Given the description of an element on the screen output the (x, y) to click on. 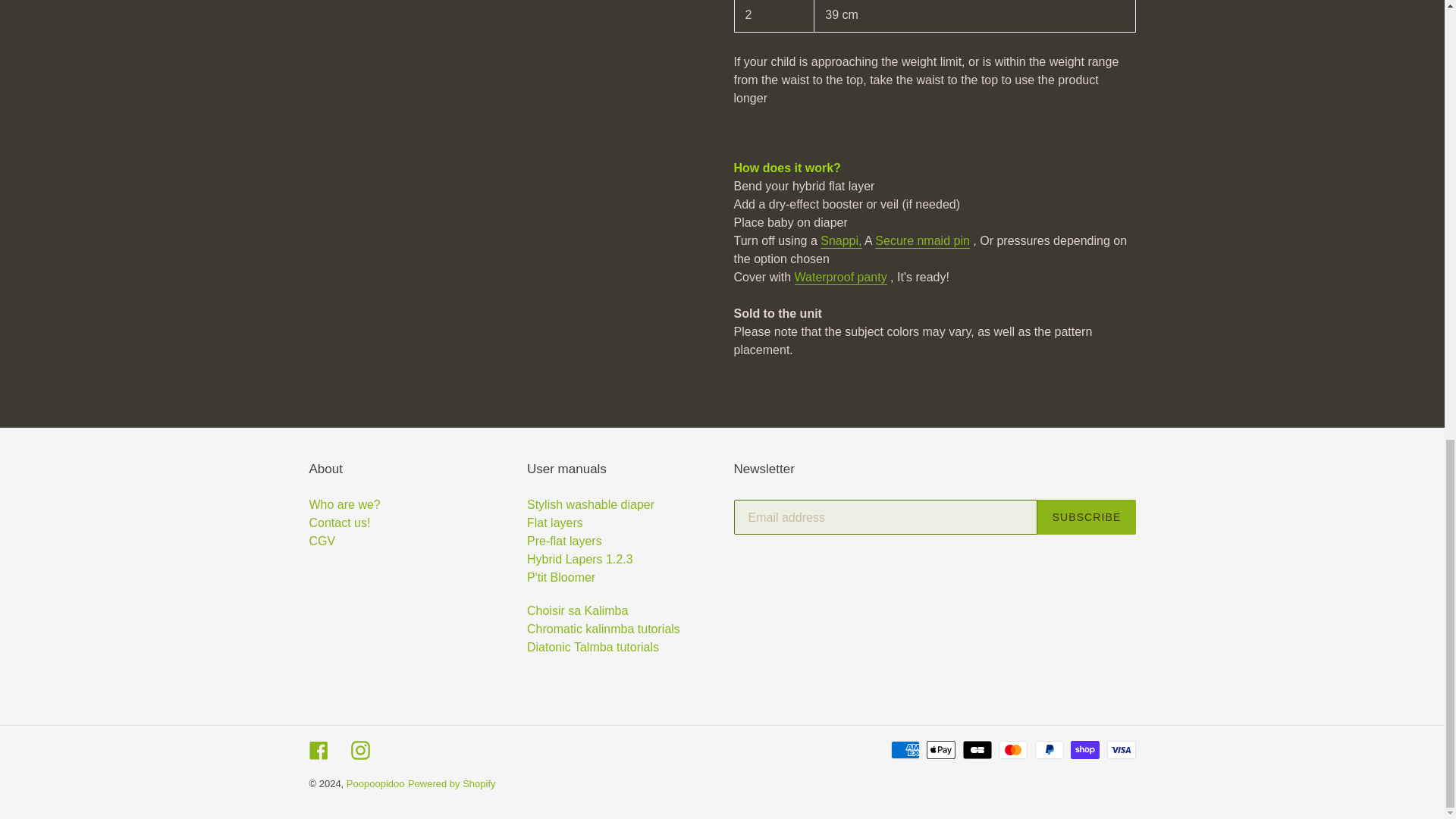
Mode d'emploi Stylish (590, 504)
Mode d'emploi Couches plates (555, 522)
TUTORIELS : la kalimba diatonique (593, 646)
Mode d'emploi " Hybride1.2.3!" (580, 558)
mode d'emploi p'tit bloomer (561, 576)
TUTORIELS : la kalimba chromatique (603, 628)
Snappi (841, 241)
AIDE AU CHOIX D'UNE KALIMBA (577, 610)
Contactez nous! (339, 522)
Qui sommes nous? (344, 504)
CGV (339, 549)
